Given the description of an element on the screen output the (x, y) to click on. 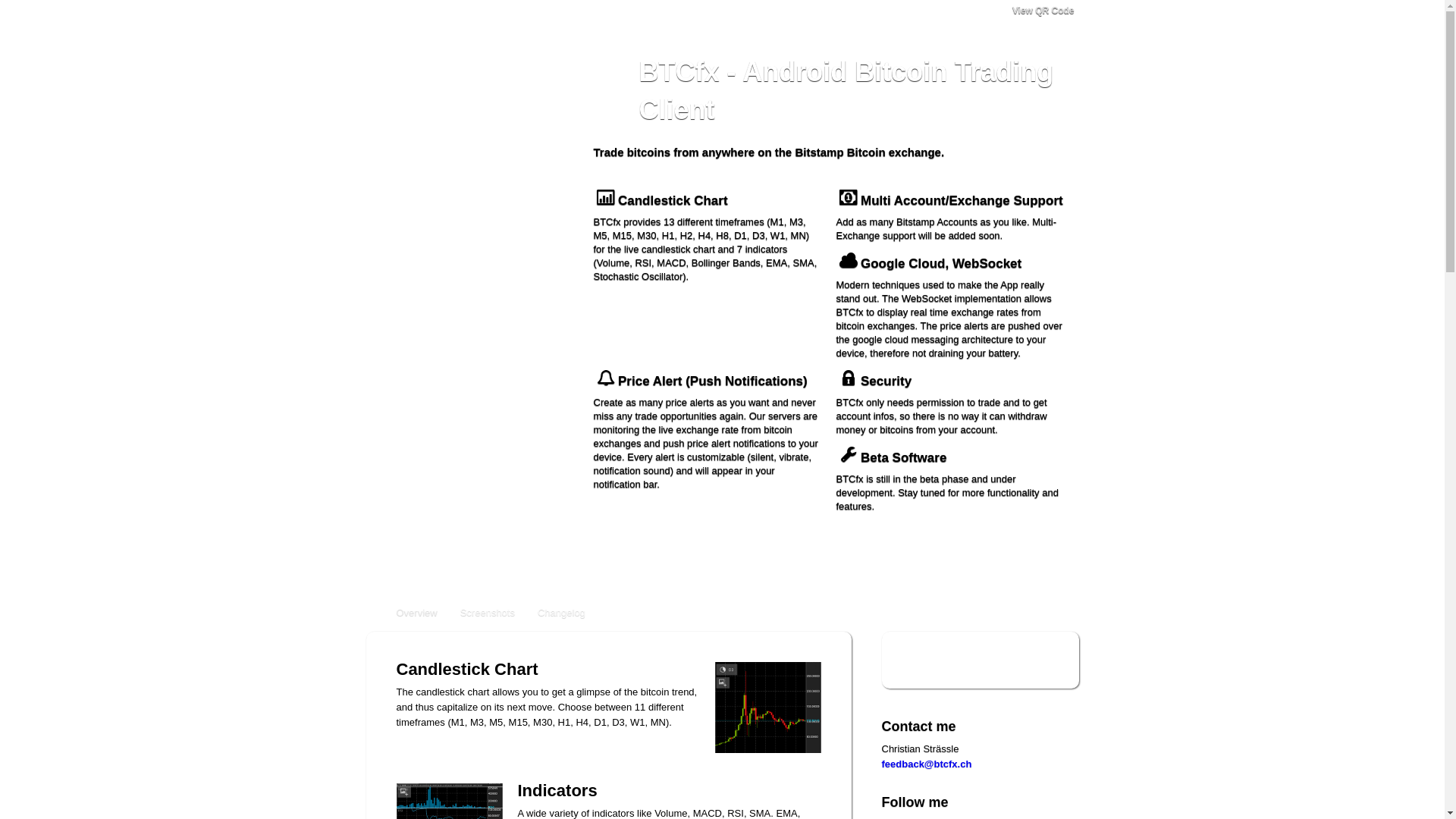
feedback@btcfx.ch Element type: text (926, 763)
View QR Code Element type: text (1035, 10)
Changelog Element type: text (561, 612)
Buy this item! Element type: text (979, 659)
Overview Element type: text (416, 612)
Screenshots Element type: text (487, 612)
